Given the description of an element on the screen output the (x, y) to click on. 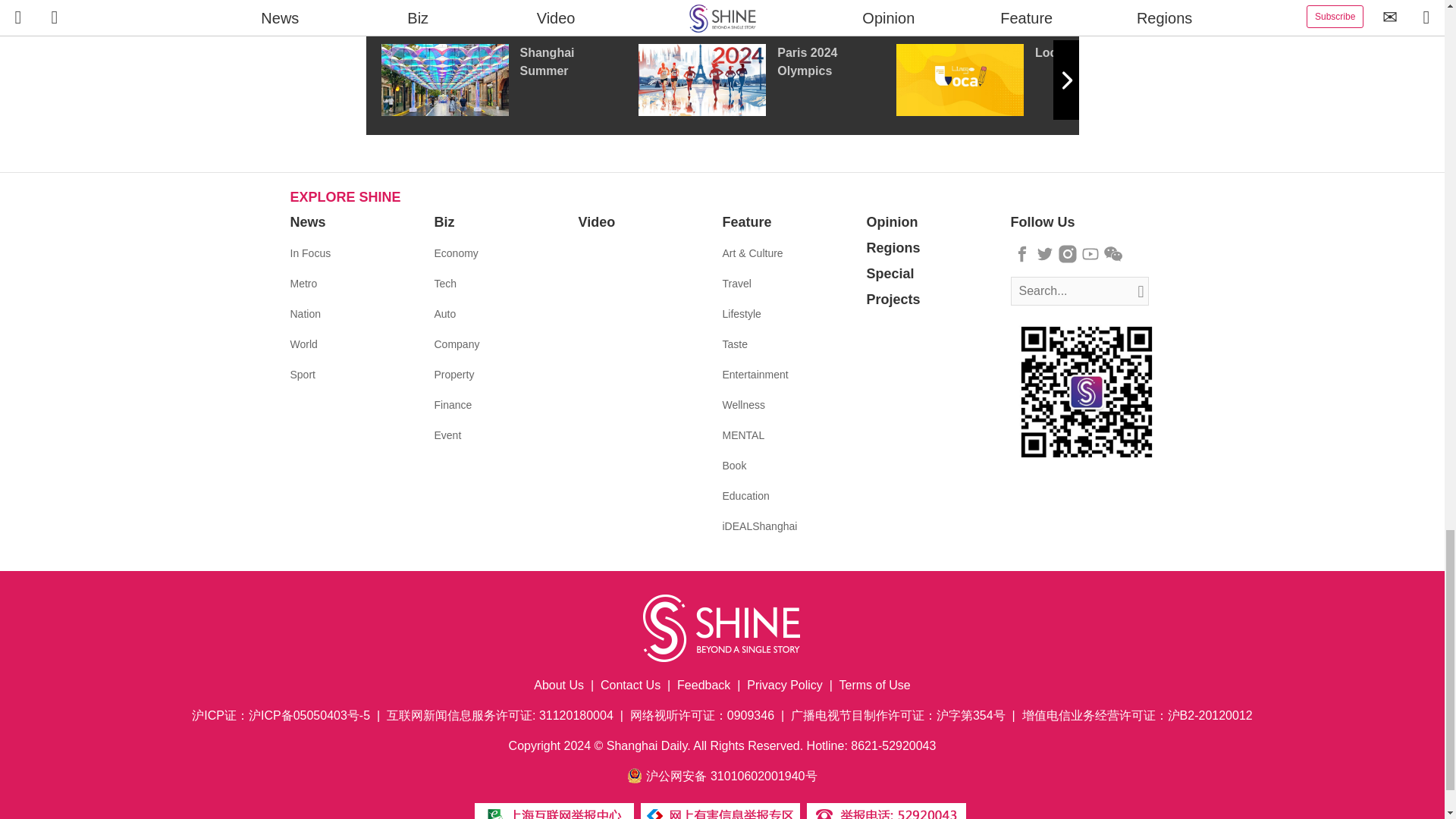
Local Lingo (1024, 79)
Special Reports (721, 8)
Follow us on Facebook (1021, 253)
Follow us on Instagram (1067, 253)
Follow us on Twitter (1044, 253)
Paris 2024 Olympics (767, 79)
Follow us on Wechat (1112, 253)
Follow us on Youtube (1090, 253)
Shanghai Summer (508, 79)
